Given the description of an element on the screen output the (x, y) to click on. 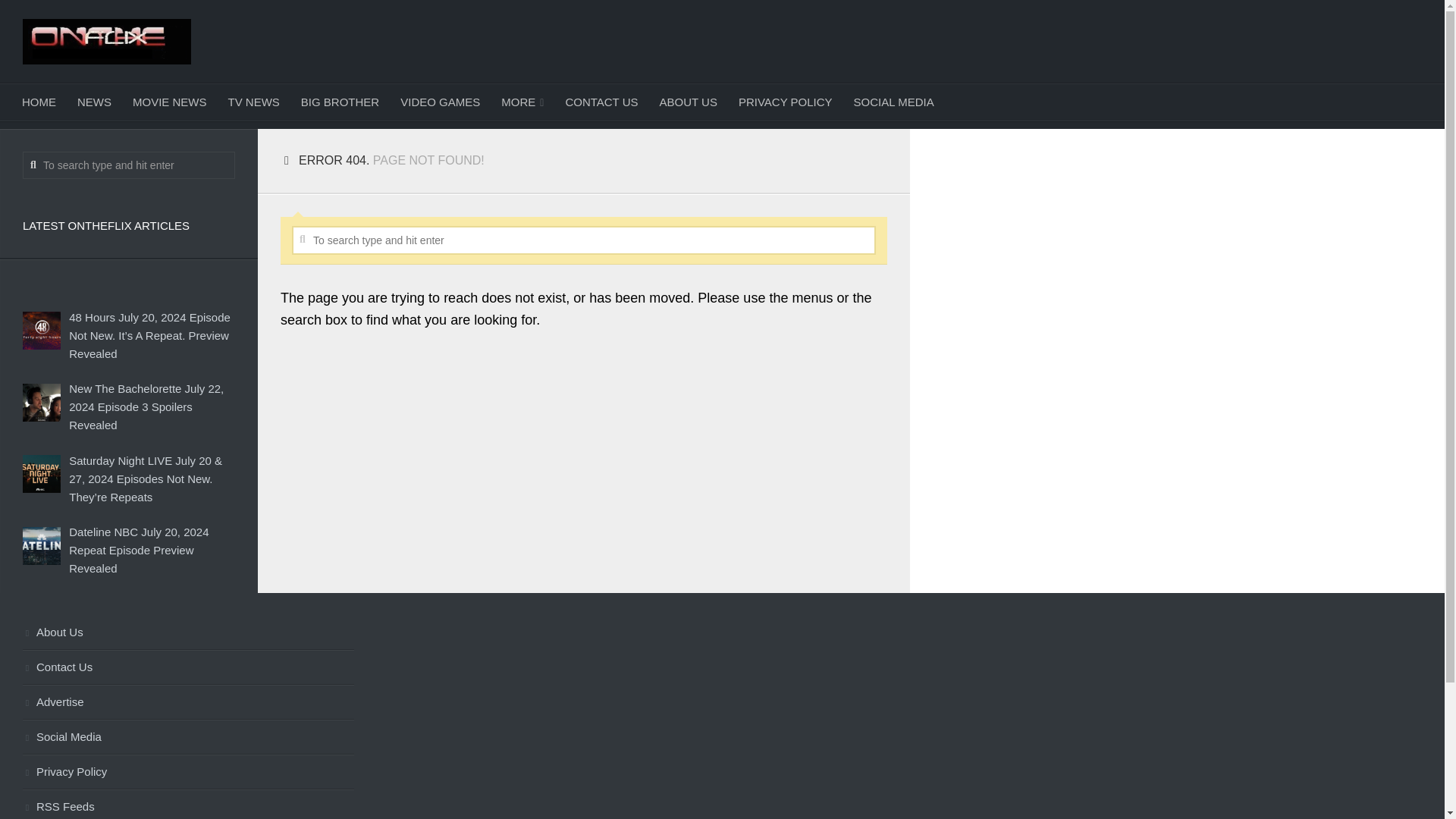
BIG BROTHER (339, 102)
PRIVACY POLICY (785, 102)
To search type and hit enter (128, 165)
Advertise (188, 702)
CONTACT US (600, 102)
TV NEWS (252, 102)
HOME (38, 102)
About Us (188, 632)
RSS Feeds (188, 804)
Privacy Policy (188, 772)
To search type and hit enter (128, 165)
Contact Us (188, 667)
Dateline NBC July 20, 2024 Repeat Episode Preview Revealed (138, 549)
To search type and hit enter (584, 240)
SOCIAL MEDIA (893, 102)
